Given the description of an element on the screen output the (x, y) to click on. 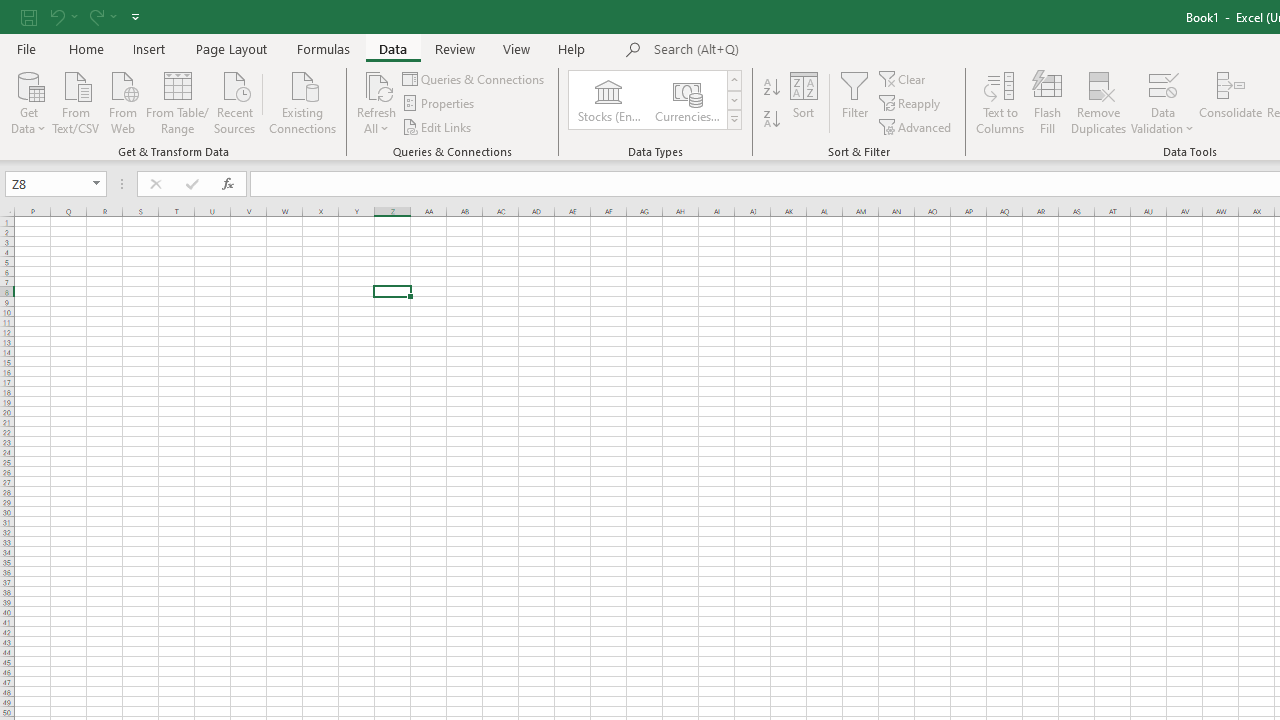
Refresh All (376, 102)
Text to Columns... (1000, 102)
Customize Quick Access Toolbar (135, 15)
Insert (149, 48)
Microsoft search (792, 49)
Flash Fill (1047, 102)
Class: NetUIImage (734, 119)
Recent Sources (235, 101)
More Options (1162, 121)
